Given the description of an element on the screen output the (x, y) to click on. 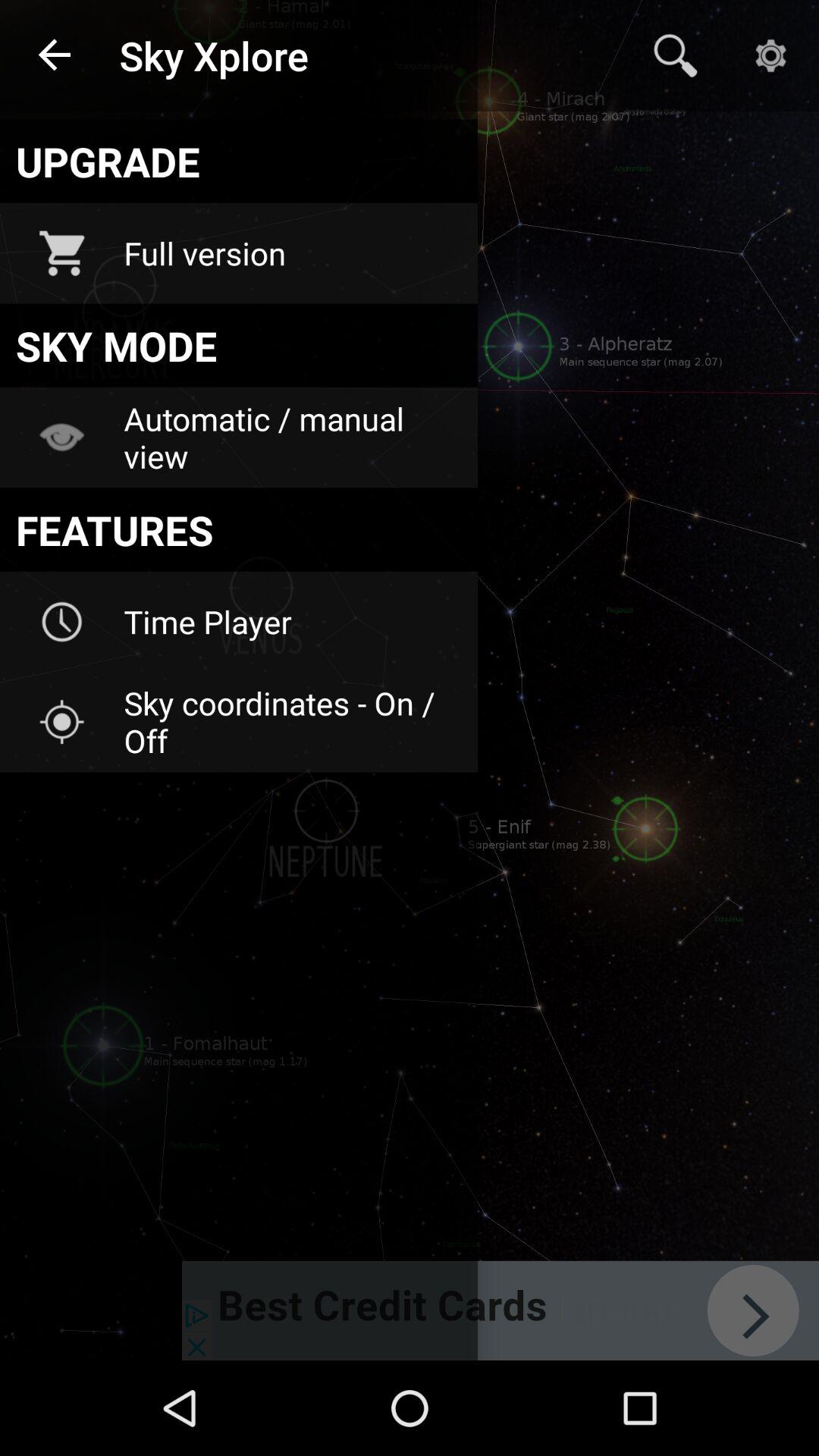
jump to the time player (290, 621)
